Given the description of an element on the screen output the (x, y) to click on. 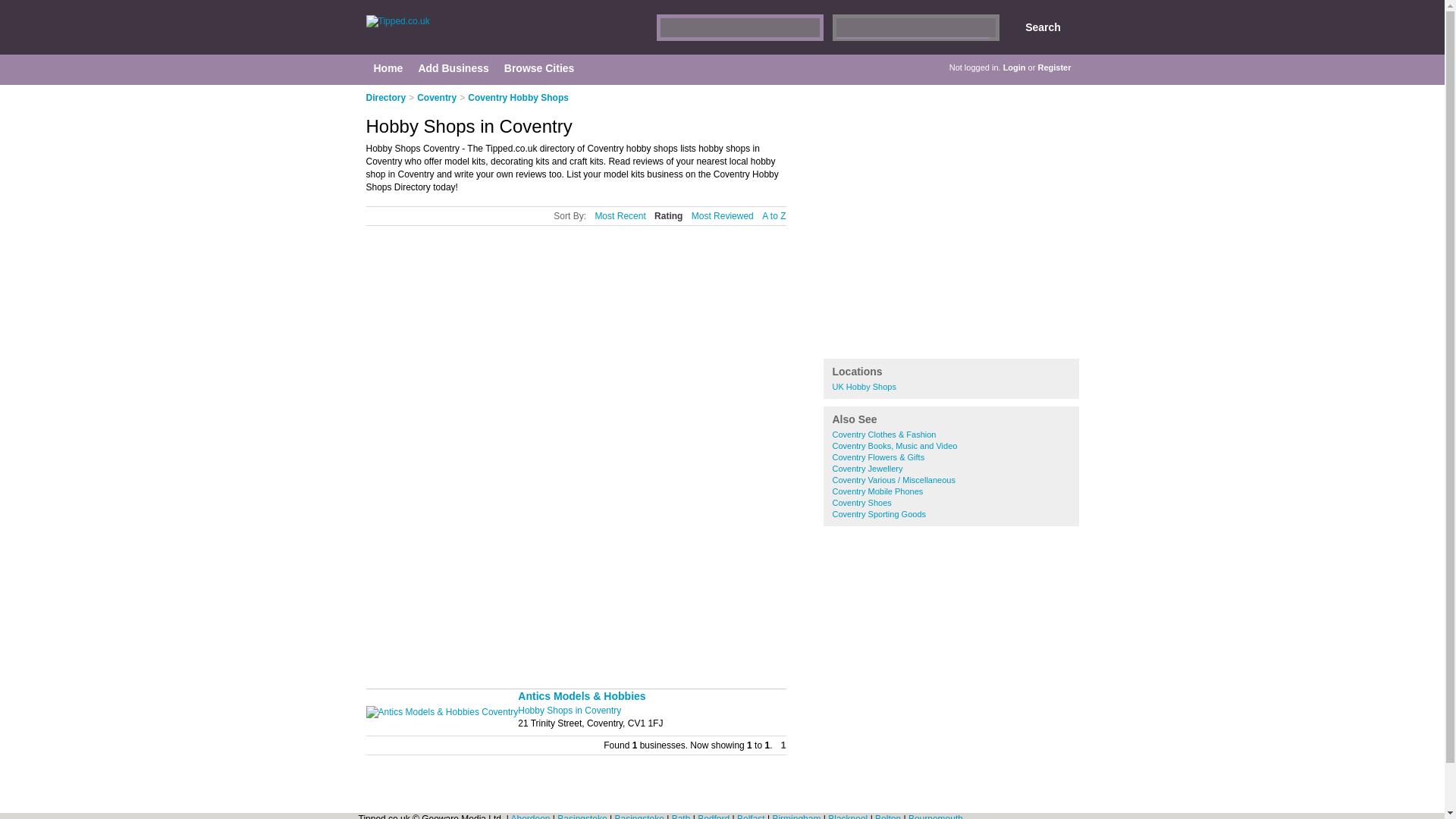
Login (1014, 67)
Businesses in Aberdeen (531, 816)
Tipped.co.uk (507, 34)
Businesses in Bournemouth (935, 816)
Most Reviewed (722, 215)
Businesses in Bolton (888, 816)
Coventry Hobby Shops (518, 97)
Add my business for FREE (903, 335)
Businesses in Basingstoke (583, 816)
Rating (667, 215)
